Given the description of an element on the screen output the (x, y) to click on. 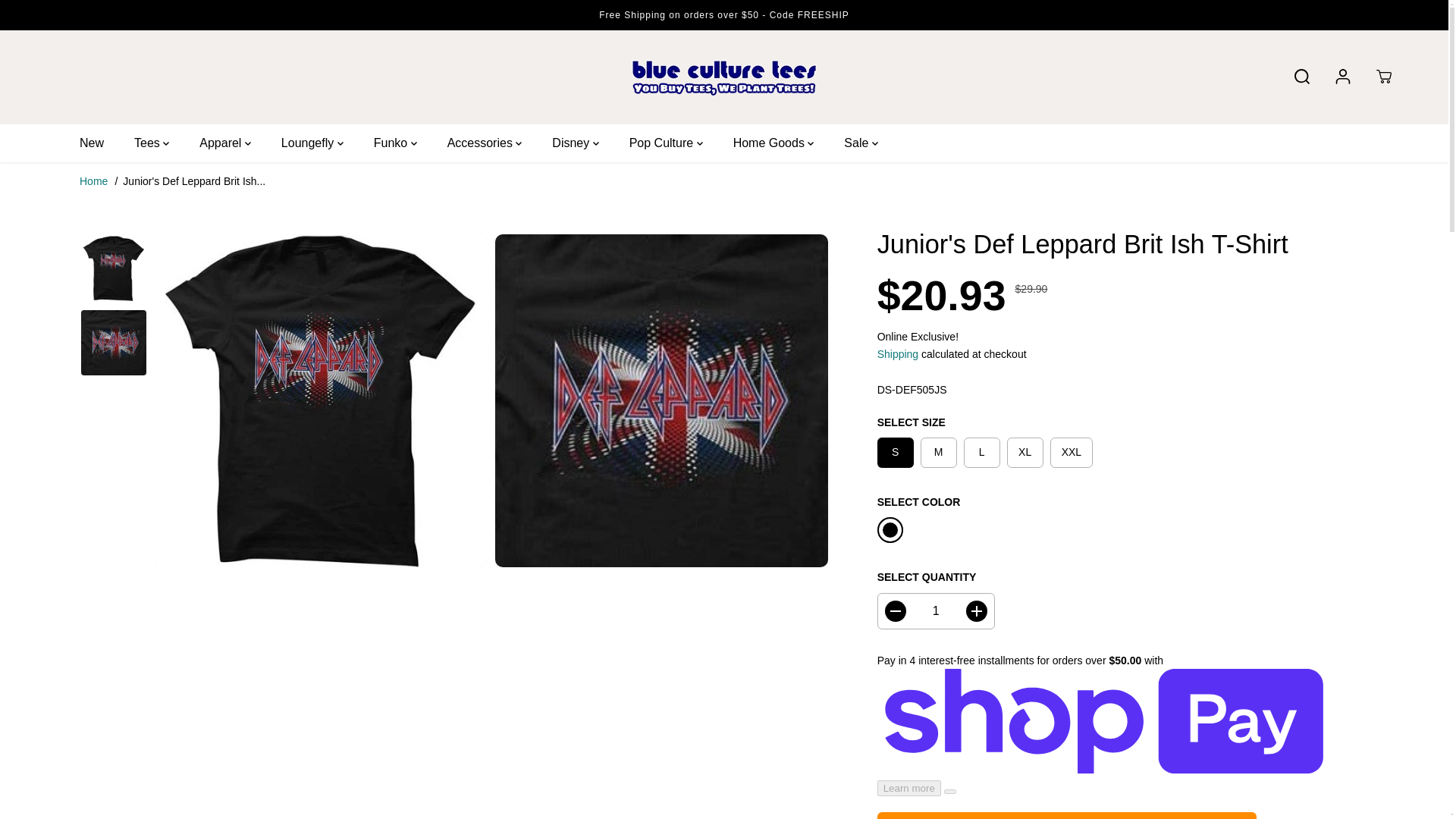
XXL (1071, 452)
Black (889, 529)
L (981, 452)
Home (93, 180)
S (895, 452)
Search (1302, 76)
XL (1025, 452)
XL (1025, 452)
M (938, 452)
SKIP TO CONTENT (60, 18)
Cart (1383, 76)
XXL (1071, 452)
S (895, 452)
L (981, 452)
Log in (1342, 76)
